Given the description of an element on the screen output the (x, y) to click on. 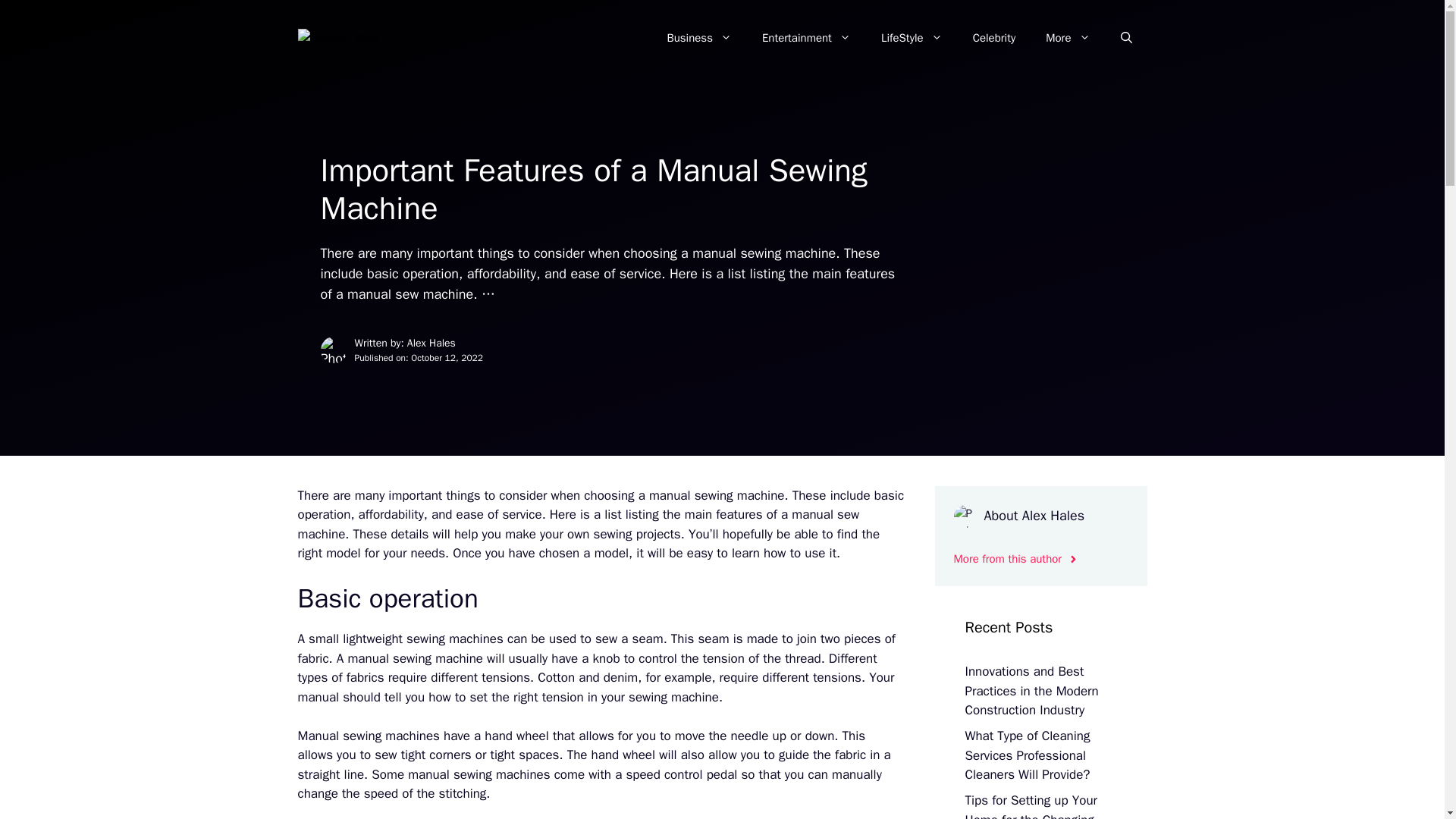
Entertainment (806, 37)
More from this author (1015, 559)
Business (698, 37)
More (1067, 37)
small lightweight sewing machines (405, 638)
Celebrity (994, 37)
LifeStyle (912, 37)
Tips for Setting up Your Home for the Changing Seasons (1030, 805)
